Given the description of an element on the screen output the (x, y) to click on. 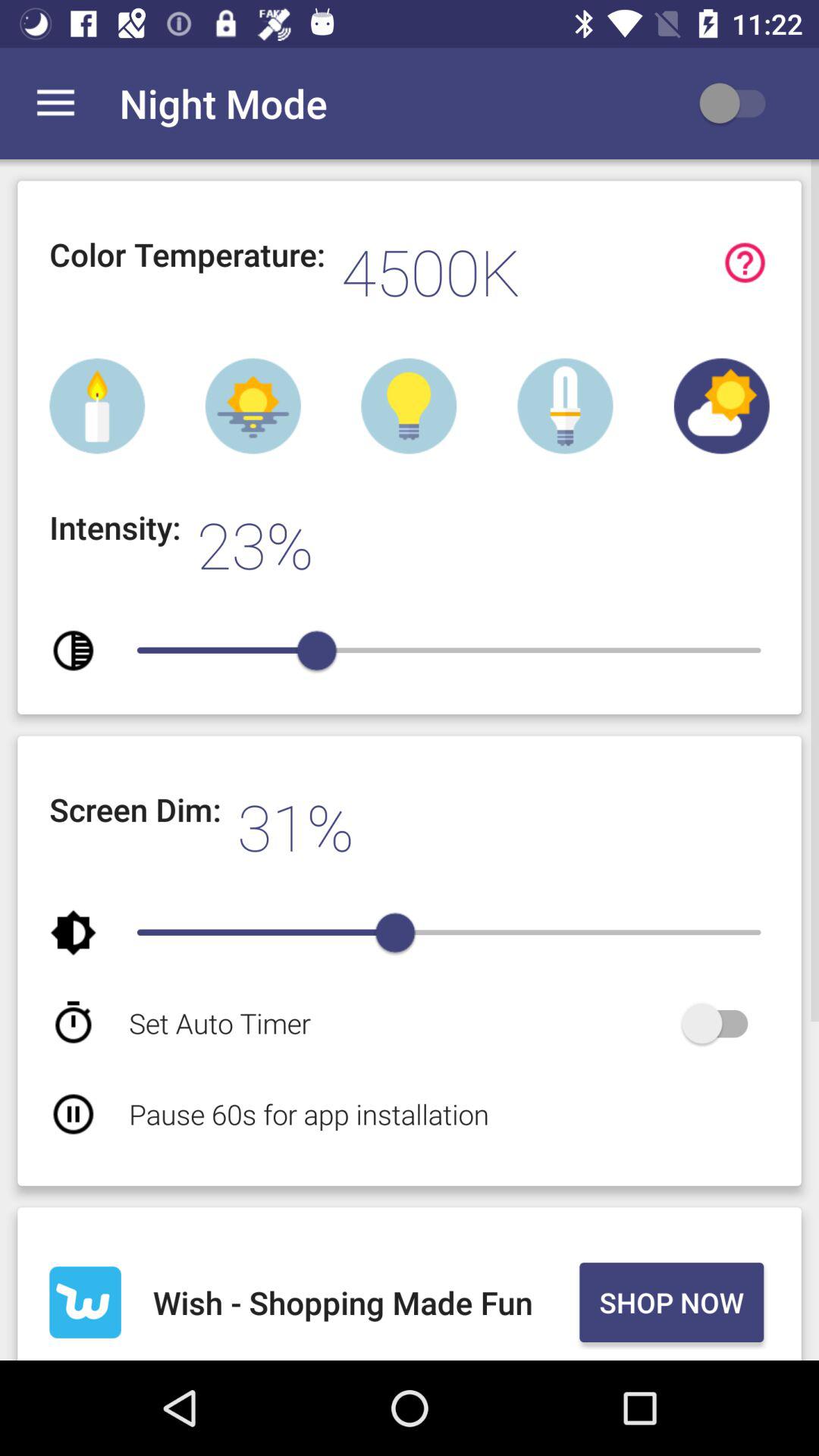
click the item to the left of the wish shopping made item (85, 1302)
